Given the description of an element on the screen output the (x, y) to click on. 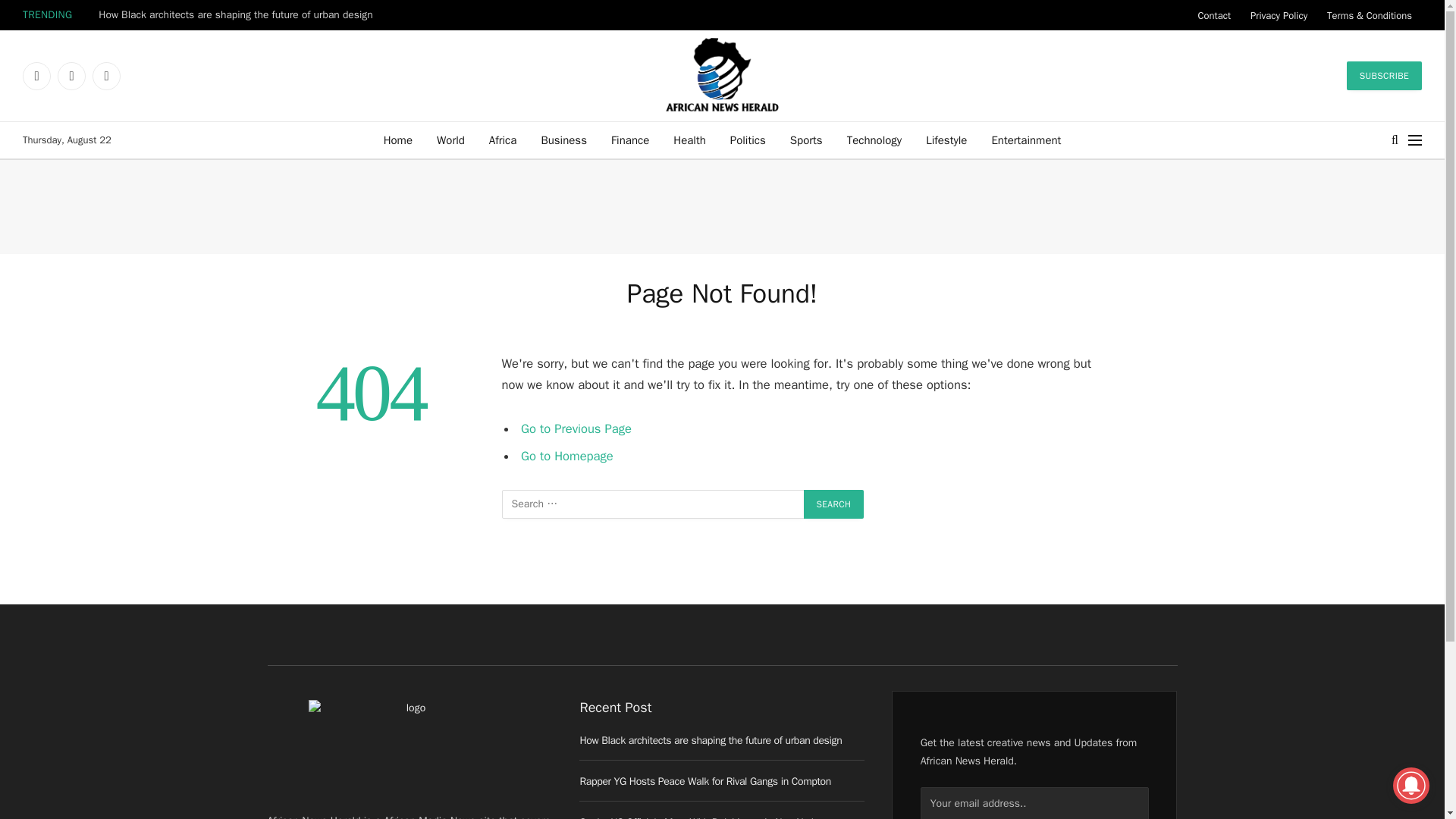
Advertisement (721, 206)
Search (833, 503)
Africa (503, 140)
African News Herald (721, 75)
Contact (1214, 15)
How Black architects are shaping the future of urban design (239, 15)
Search (833, 503)
Privacy Policy (1278, 15)
Facebook (36, 76)
World (451, 140)
